Given the description of an element on the screen output the (x, y) to click on. 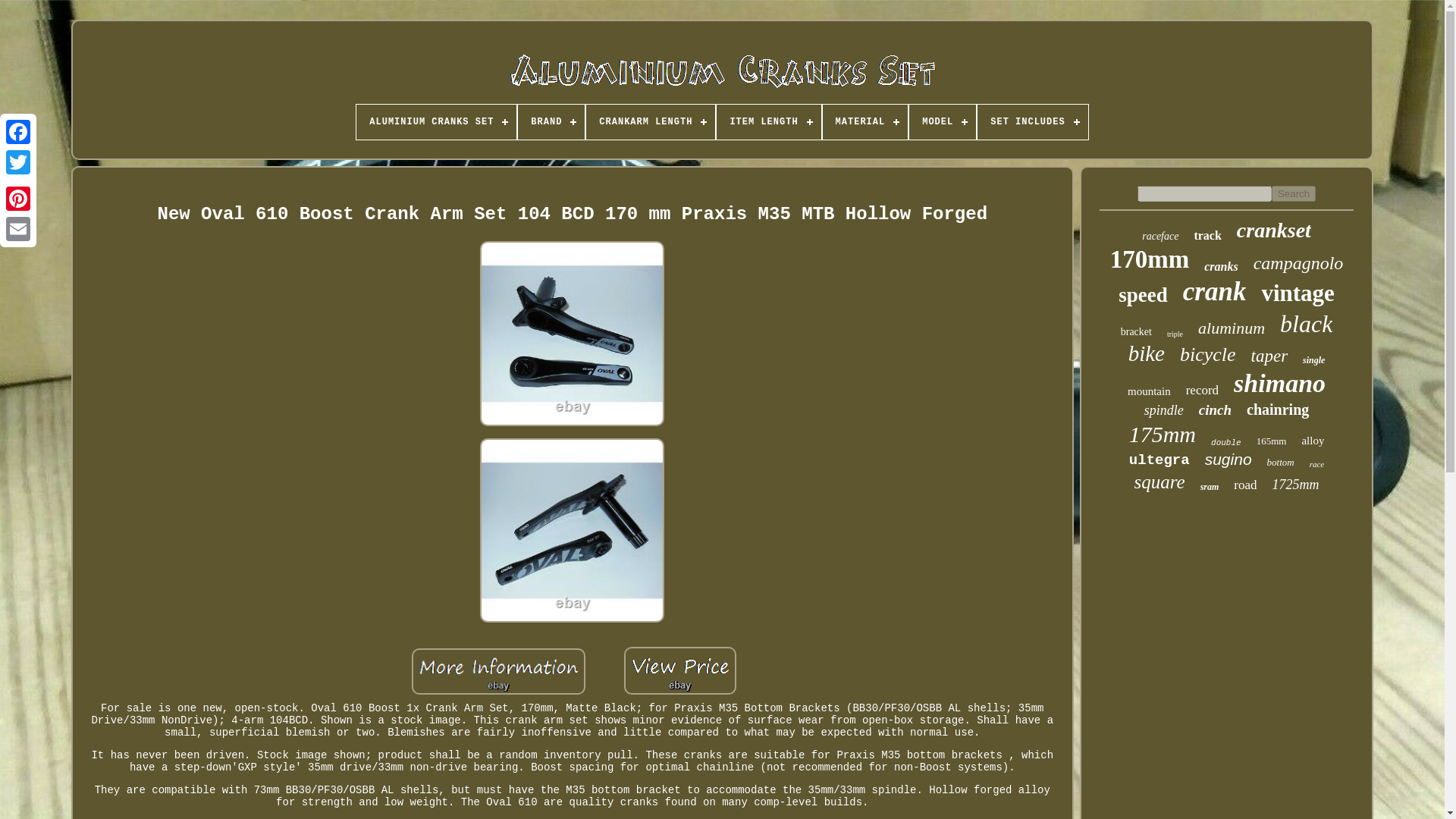
CRANKARM LENGTH (650, 121)
ALUMINIUM CRANKS SET (436, 121)
Search (1293, 193)
BRAND (551, 121)
